Given the description of an element on the screen output the (x, y) to click on. 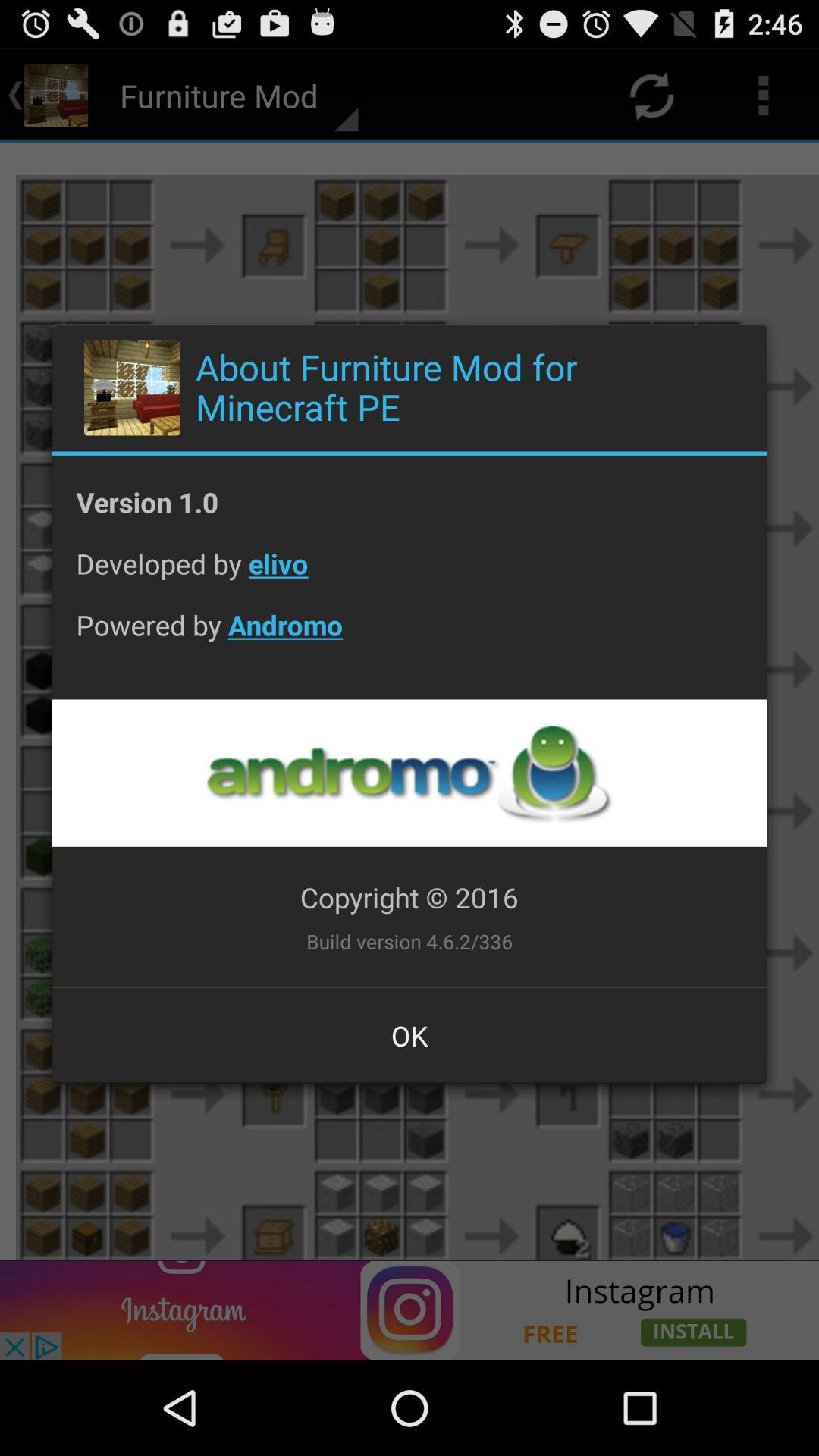
turn on the ok (409, 1035)
